Given the description of an element on the screen output the (x, y) to click on. 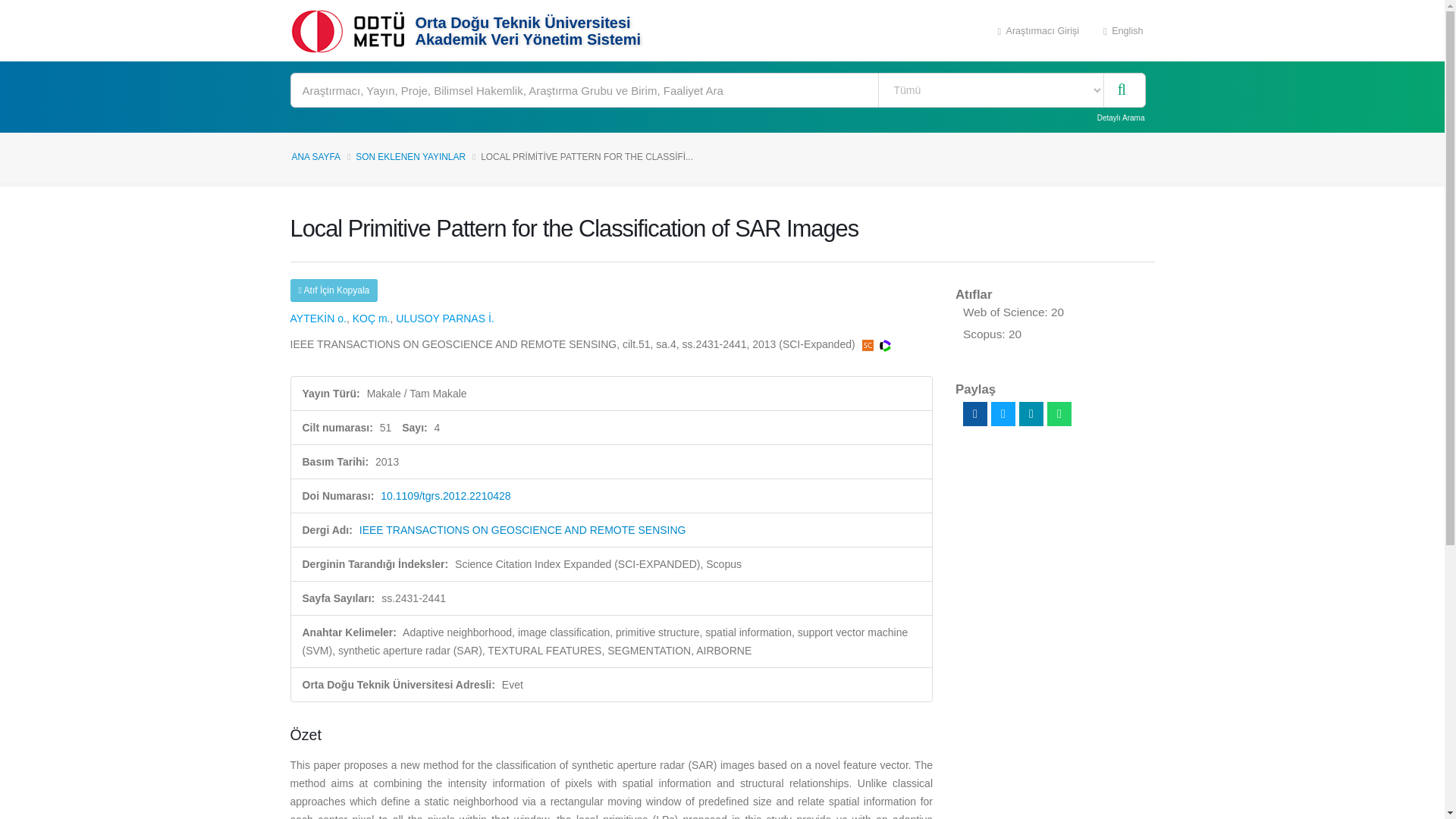
ANA SAYFA (315, 156)
SON EKLENEN YAYINLAR (410, 156)
IEEE TRANSACTIONS ON GEOSCIENCE AND REMOTE SENSING (522, 530)
English (1123, 31)
